Given the description of an element on the screen output the (x, y) to click on. 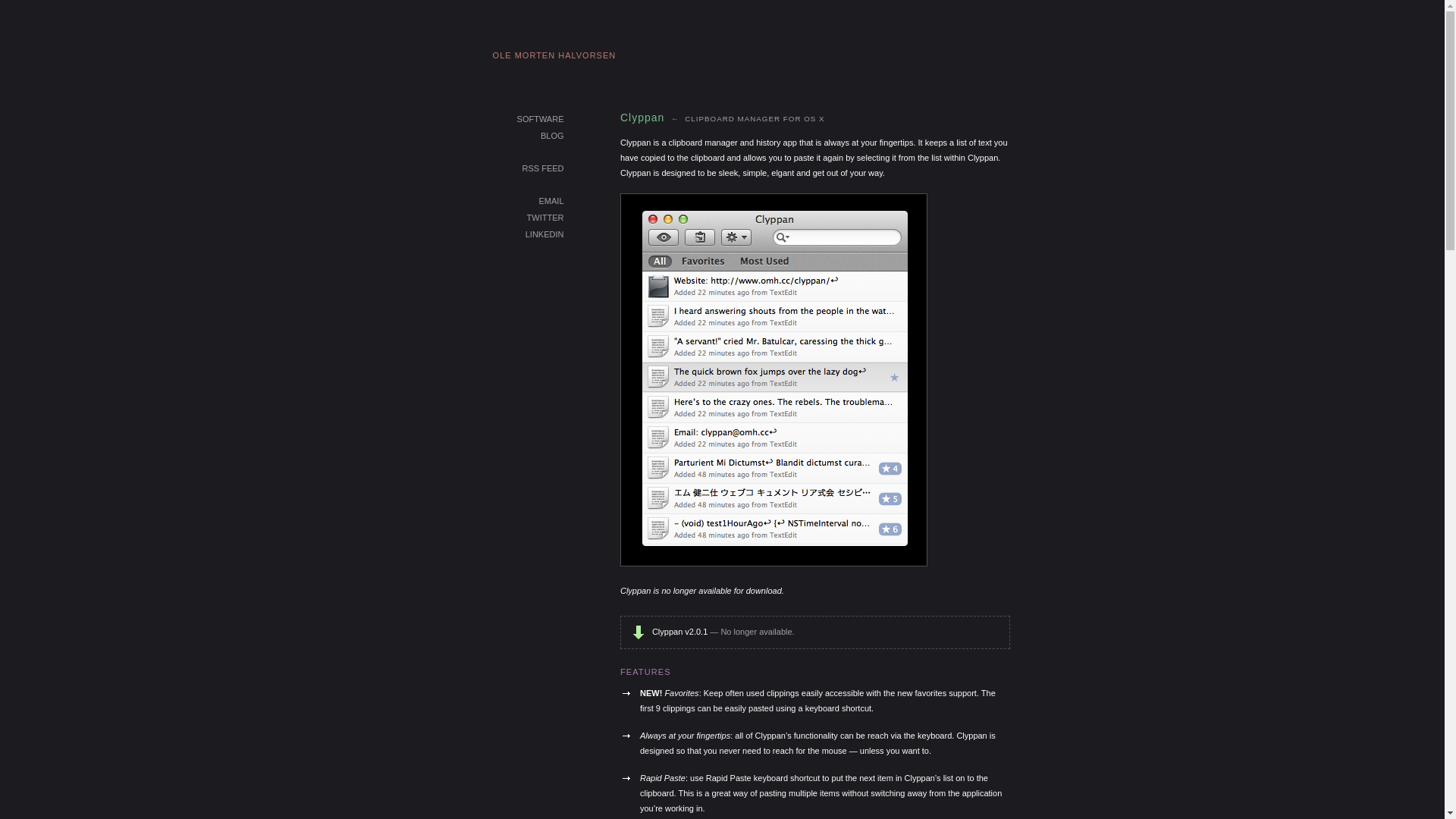
EMAIL Element type: text (550, 201)
BLOG Element type: text (552, 136)
LINKEDIN Element type: text (544, 234)
TWITTER Element type: text (545, 218)
OLE MORTEN HALVORSEN Element type: text (554, 55)
Clyppan Element type: text (642, 118)
SOFTWARE Element type: text (540, 119)
RSS FEED Element type: text (542, 168)
